Given the description of an element on the screen output the (x, y) to click on. 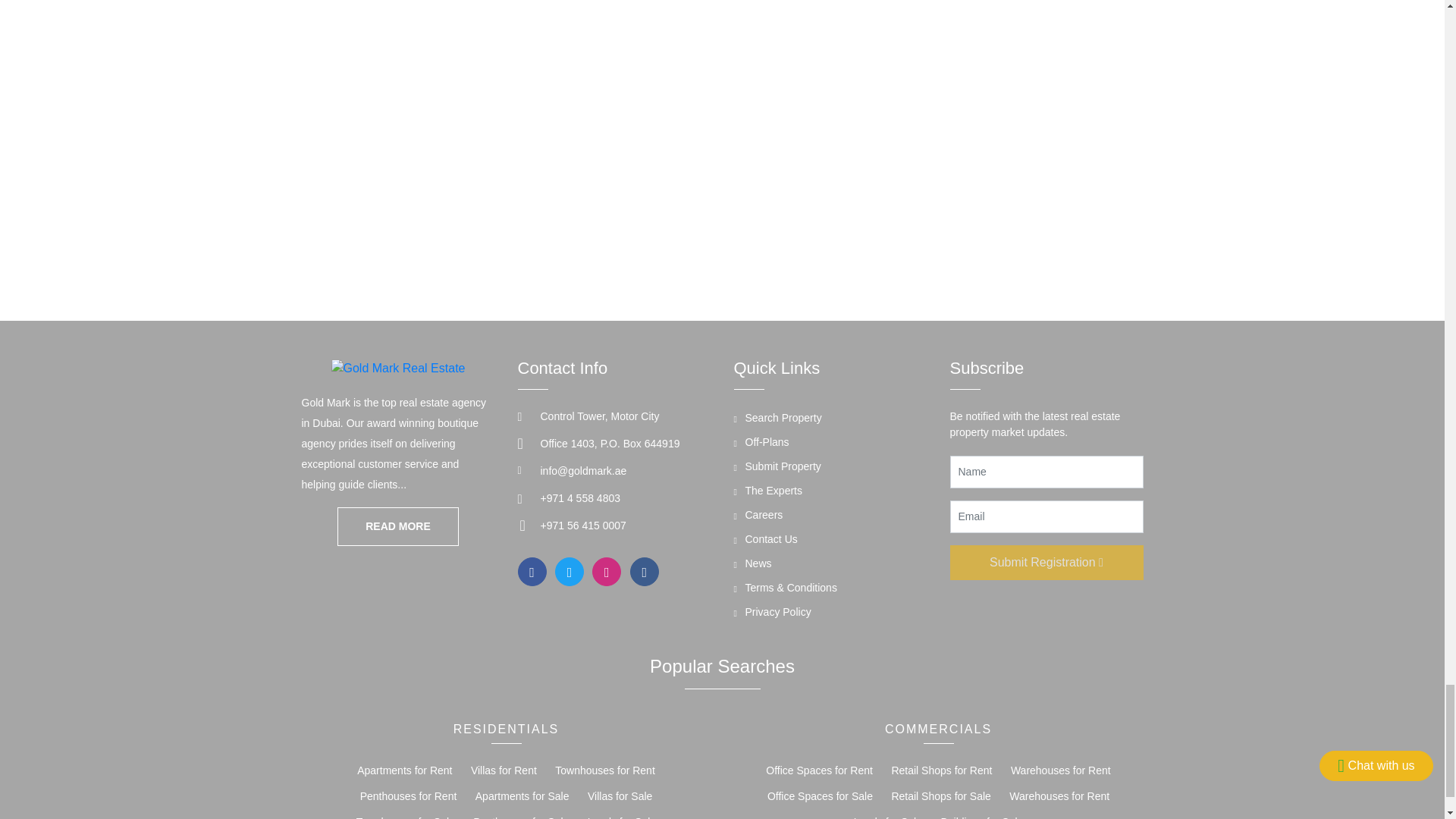
Search Property (777, 420)
Gold Mark Real Estate (398, 367)
READ MORE (397, 526)
Submit Property (777, 468)
Off-Plans (761, 444)
Gold Mark Real Estate (397, 526)
